Given the description of an element on the screen output the (x, y) to click on. 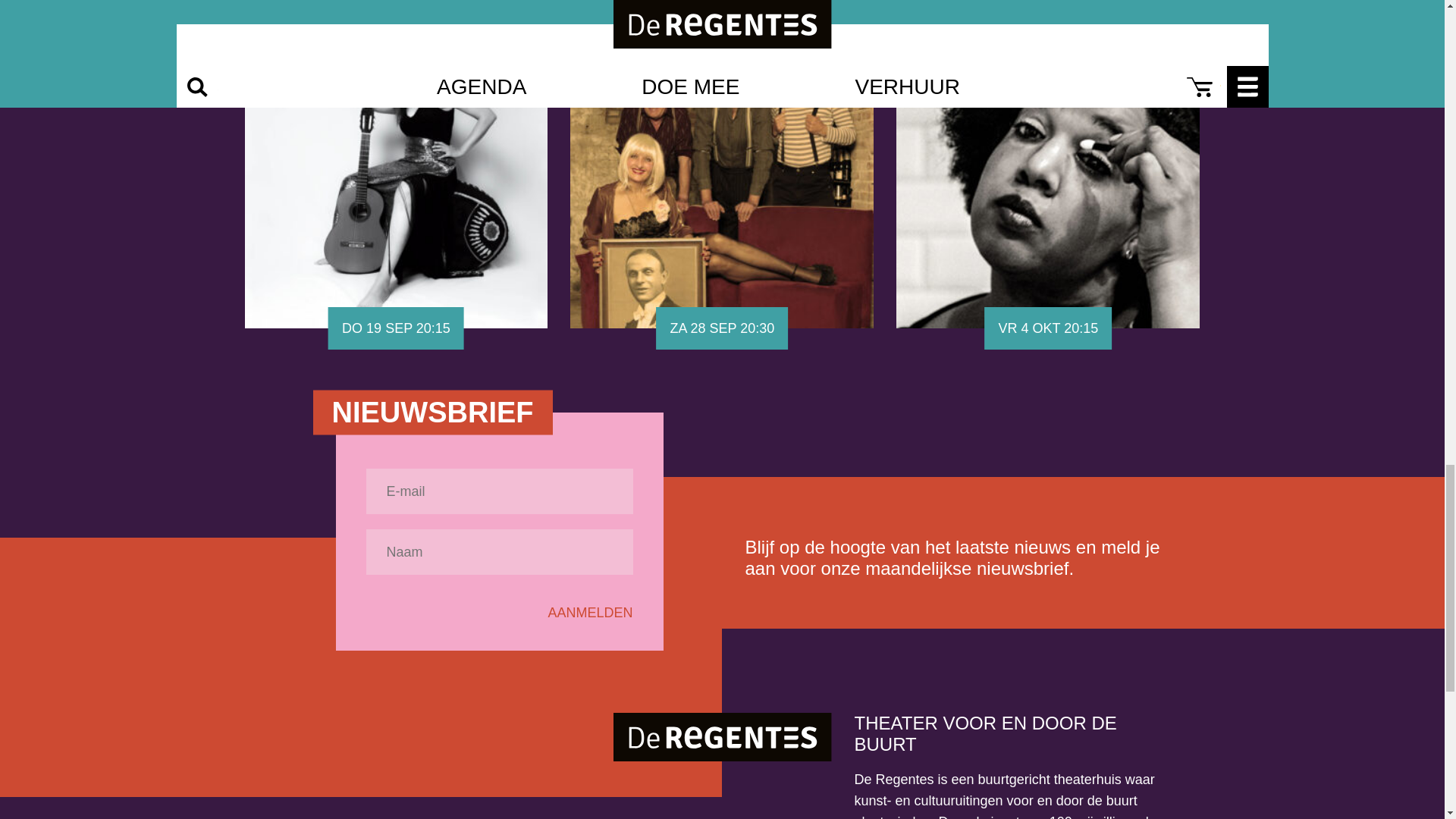
Aanmelden (589, 612)
